Given the description of an element on the screen output the (x, y) to click on. 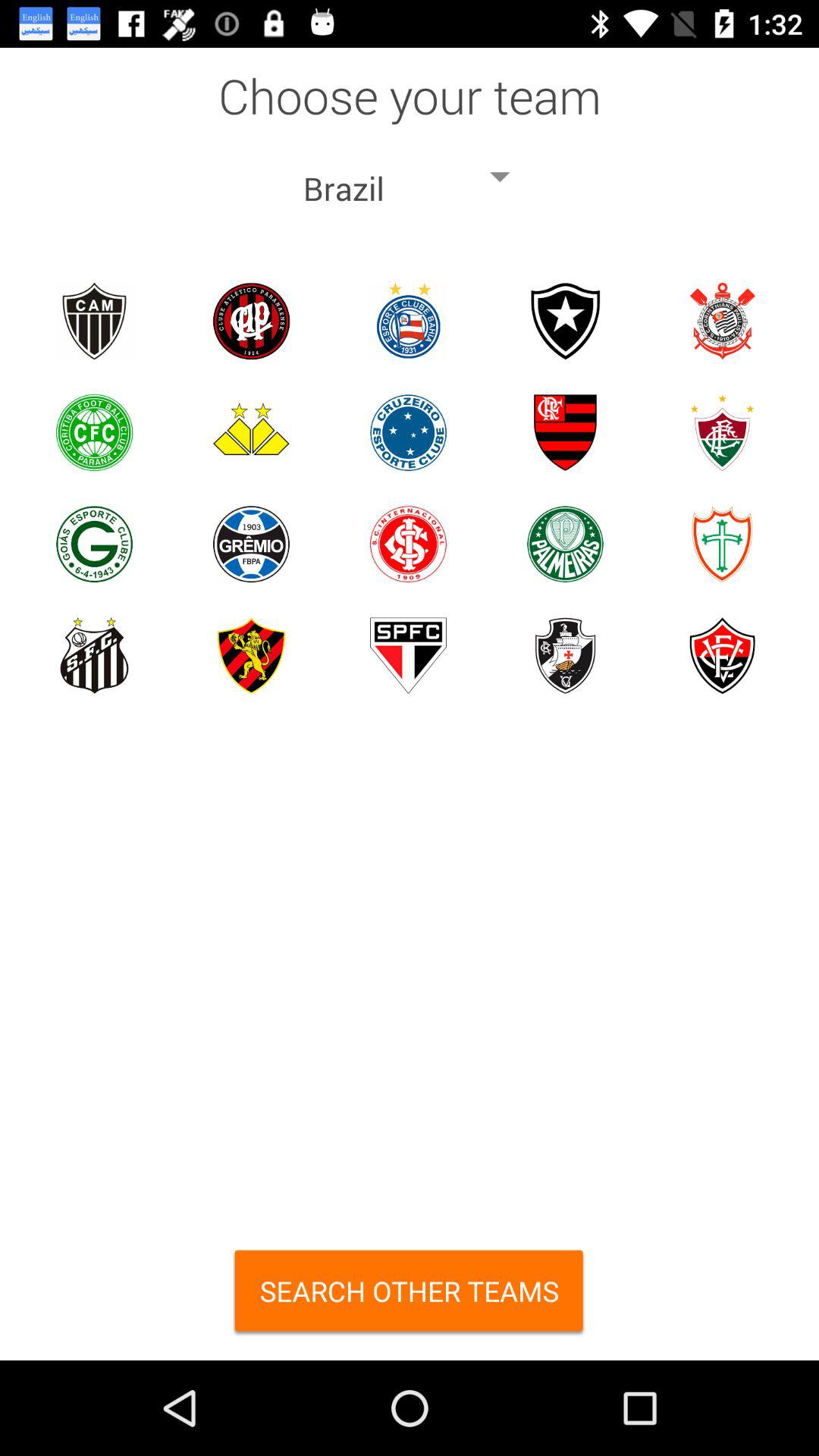
select gremio team (251, 544)
